Given the description of an element on the screen output the (x, y) to click on. 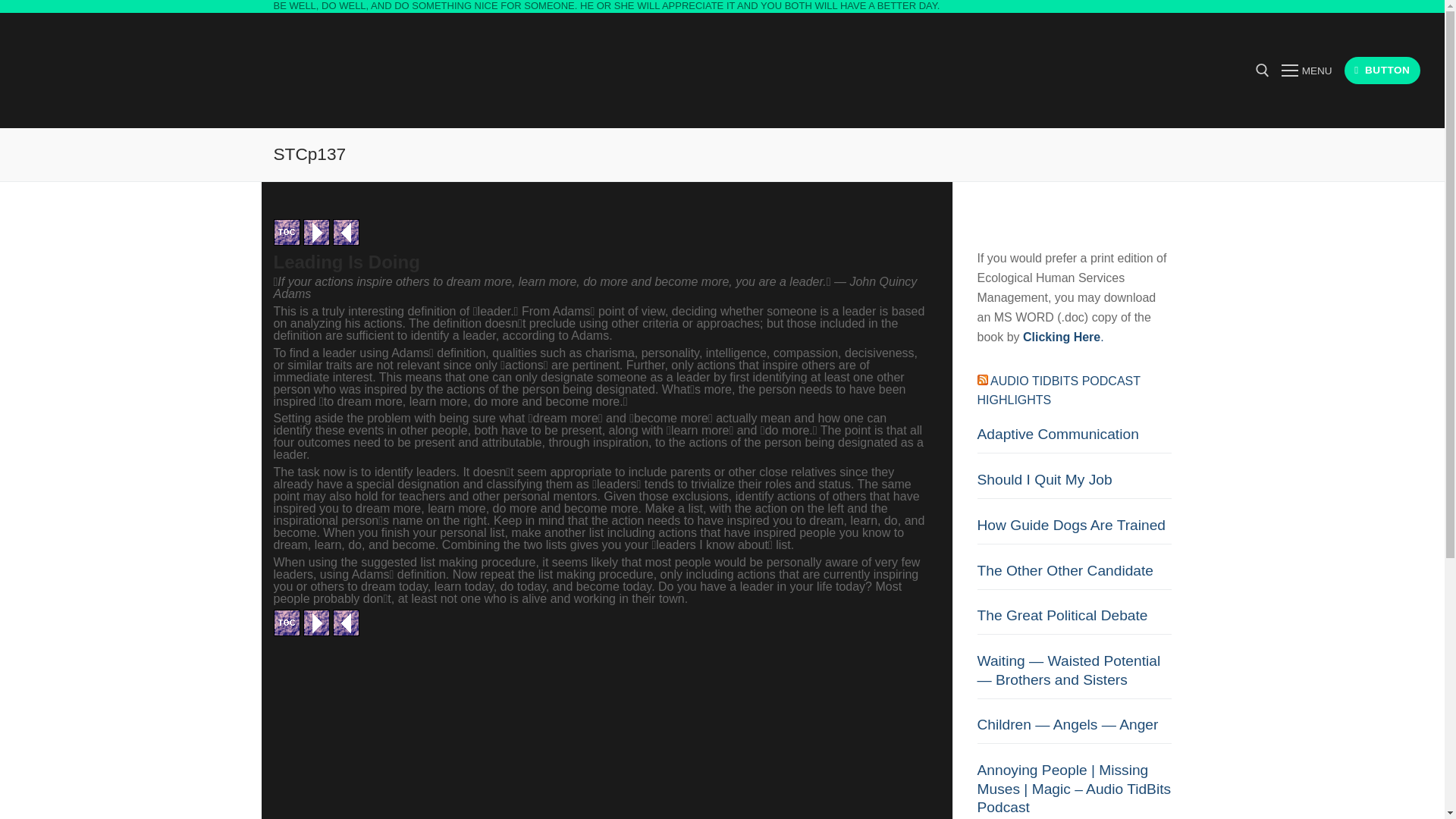
MENU (1306, 70)
The Other Other Candidate (1073, 575)
BUTTON (1382, 70)
Adaptive Communication (1073, 439)
Clicking Here. (1063, 336)
The Great Political Debate (1073, 620)
How Guide Dogs Are Trained (1073, 530)
AUDIO TIDBITS PODCAST HIGHLIGHTS (1058, 390)
Should I Quit My Job (1073, 484)
